Given the description of an element on the screen output the (x, y) to click on. 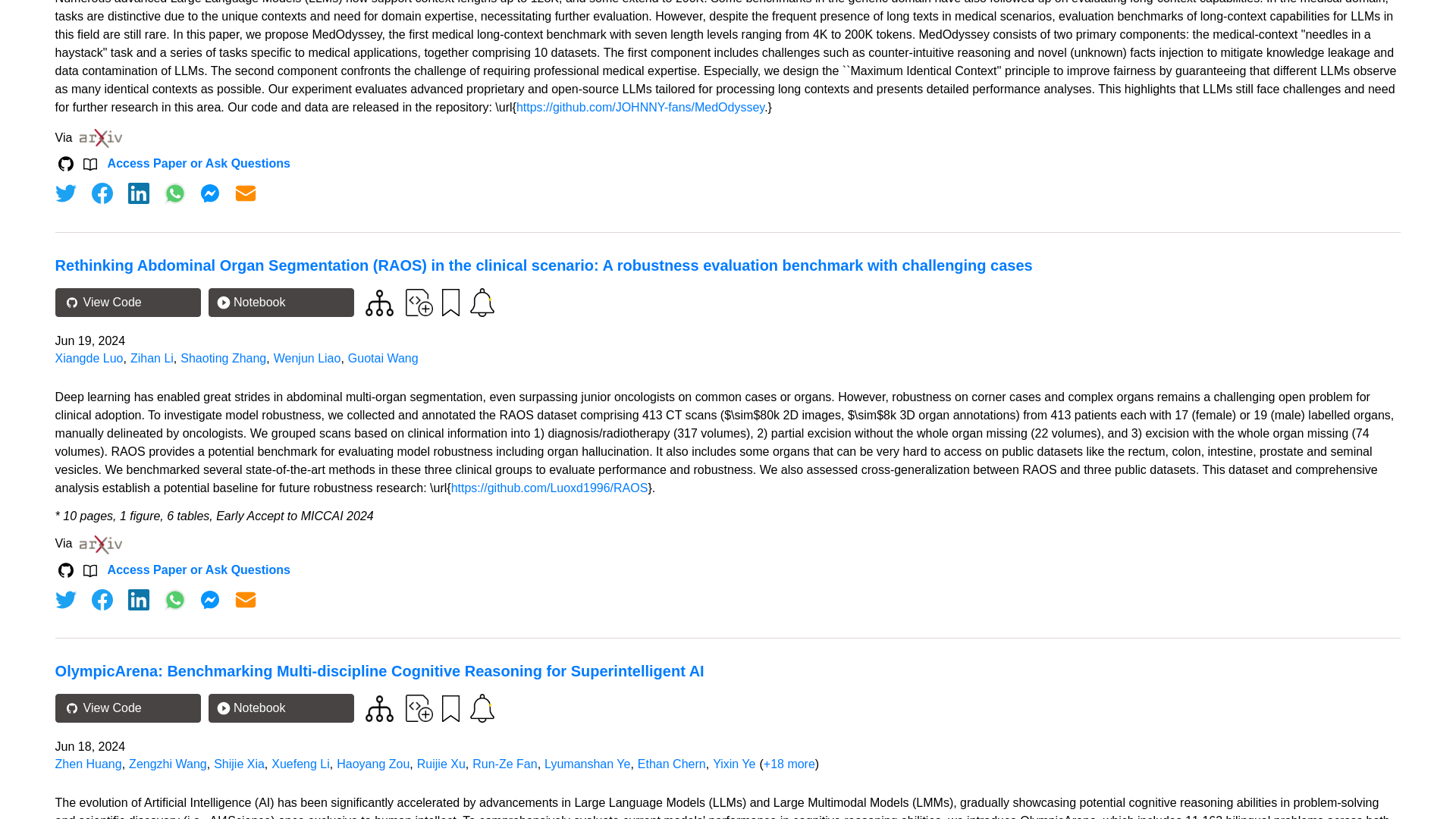
Send via Messenger (209, 192)
Bookmark this paper (449, 301)
Send via Messenger (209, 599)
Share via Email (245, 192)
View code for similar papers (379, 302)
Contribute your code for this paper to the community (419, 302)
Share via Email (245, 599)
